Given the description of an element on the screen output the (x, y) to click on. 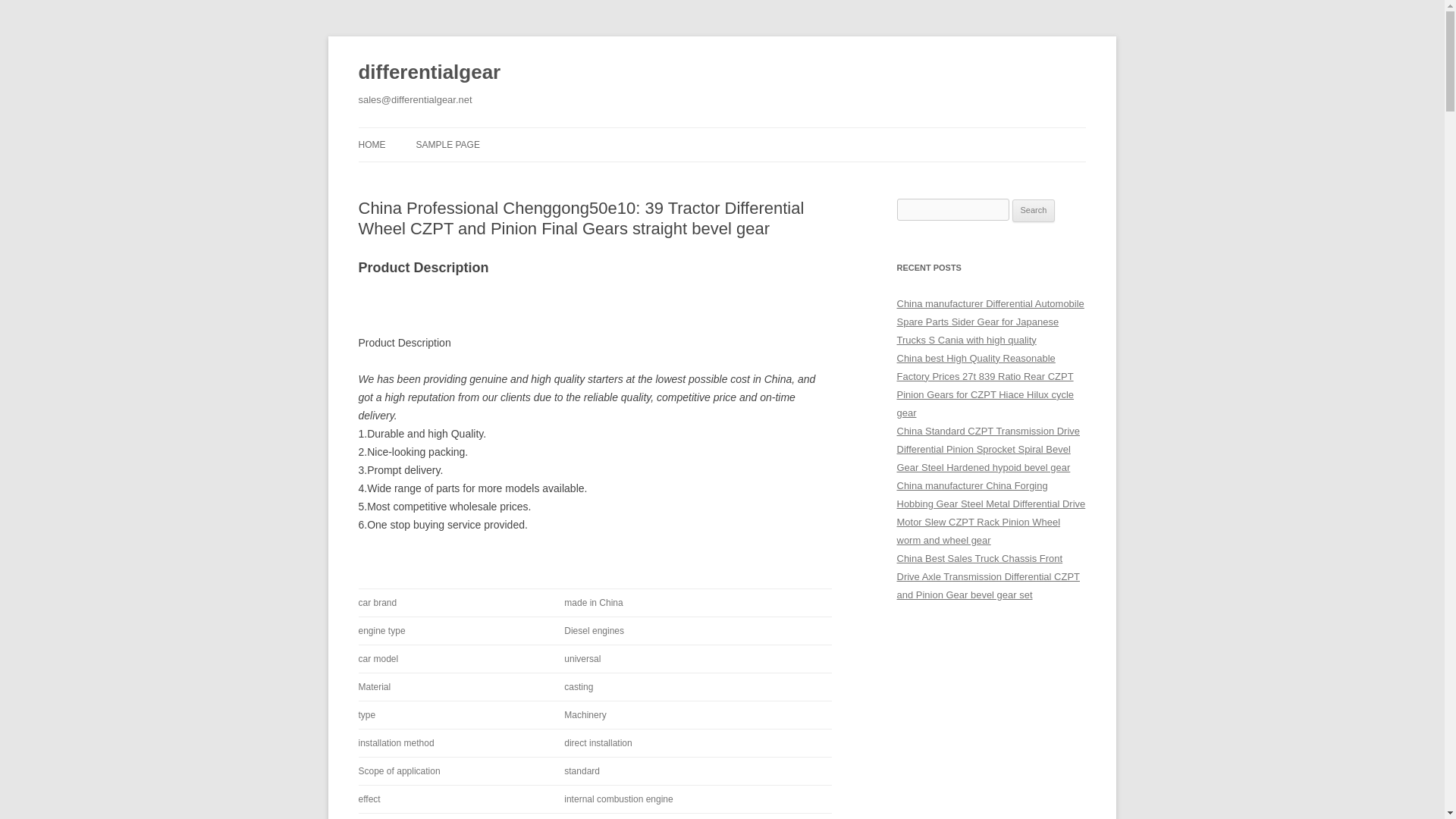
SAMPLE PAGE (446, 144)
differentialgear (429, 72)
Search (1033, 210)
differentialgear (429, 72)
Search (1033, 210)
